Given the description of an element on the screen output the (x, y) to click on. 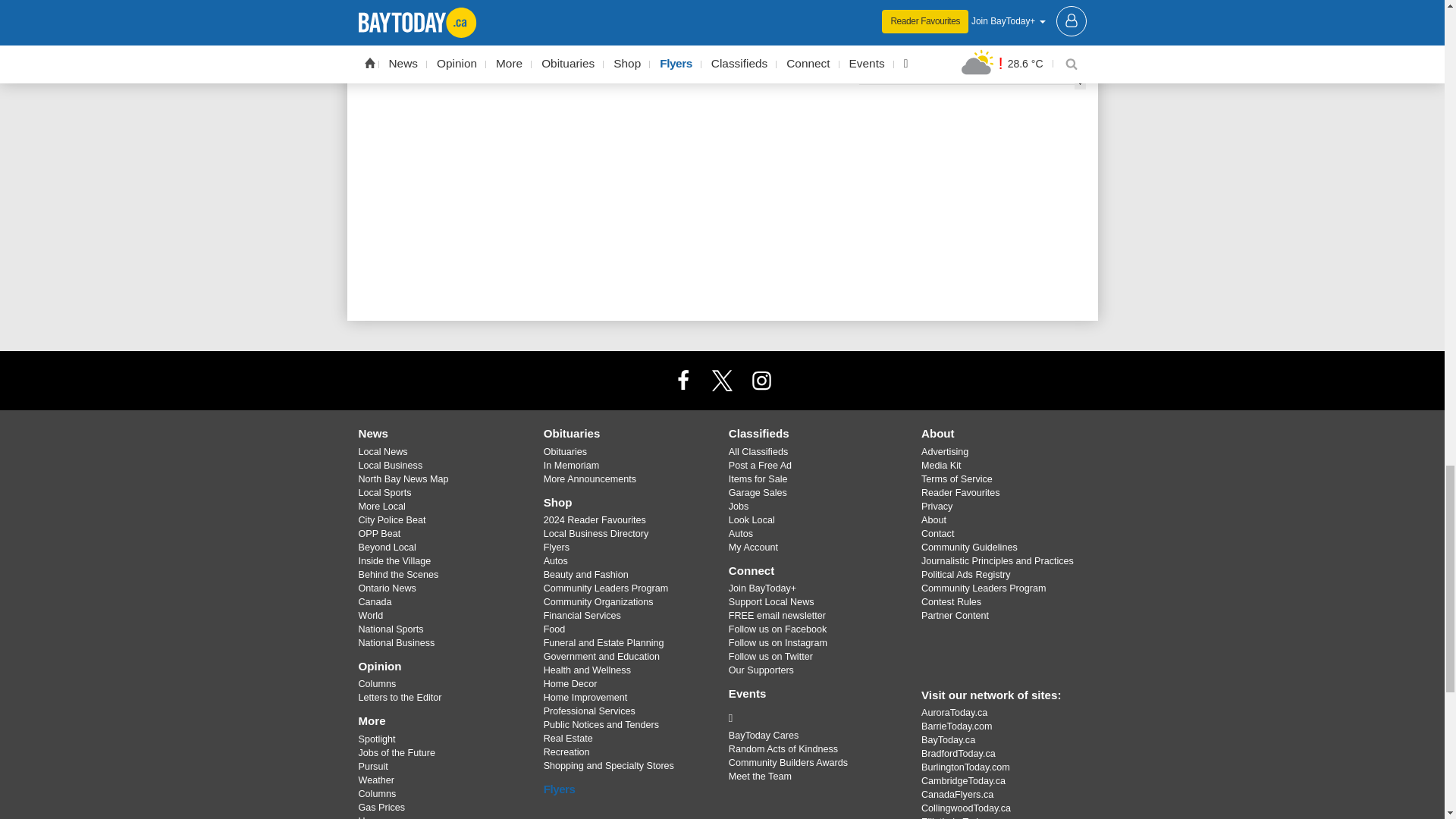
X (721, 379)
Facebook (683, 379)
Instagram (760, 379)
BayToday Cares (813, 718)
